Given the description of an element on the screen output the (x, y) to click on. 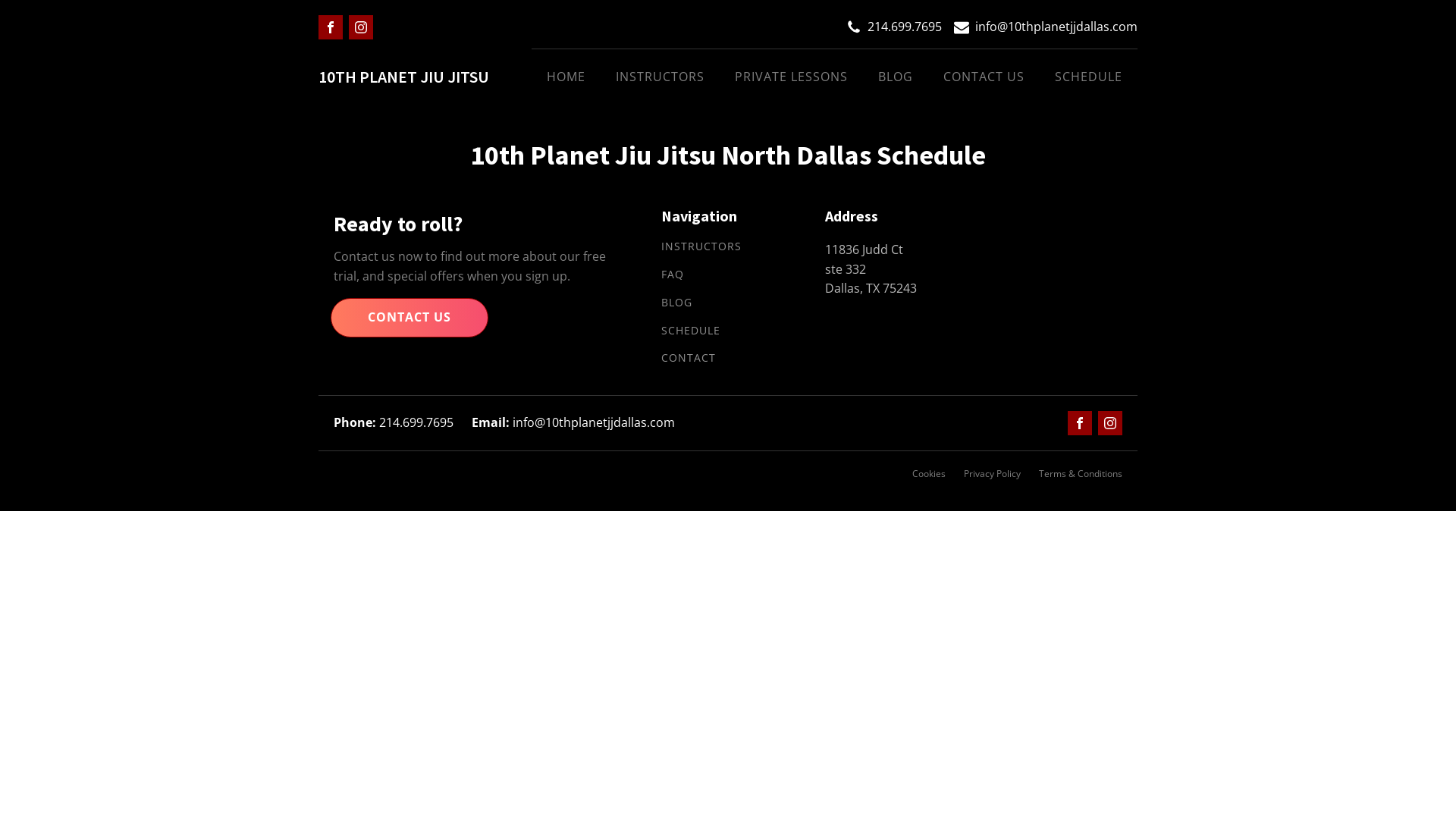
214.699.7695 Element type: text (393, 423)
214.699.7695 Element type: text (904, 27)
Privacy Policy Element type: text (991, 473)
SCHEDULE Element type: text (690, 330)
SCHEDULE Element type: text (1088, 77)
info@10thplanetjjdallas.com Element type: text (572, 423)
CONTACT US Element type: text (983, 77)
info@10thplanetjjdallas.com Element type: text (1056, 27)
Terms & Conditions Element type: text (1080, 473)
BLOG Element type: text (895, 77)
HOME Element type: text (565, 77)
PRIVATE LESSONS Element type: text (790, 77)
Cookies Element type: text (928, 473)
CONTACT US Element type: text (409, 317)
10TH PLANET JIU JITSU Element type: text (403, 76)
INSTRUCTORS Element type: text (659, 77)
FAQ Element type: text (672, 274)
BLOG Element type: text (676, 302)
CONTACT Element type: text (688, 357)
INSTRUCTORS Element type: text (701, 246)
